Given the description of an element on the screen output the (x, y) to click on. 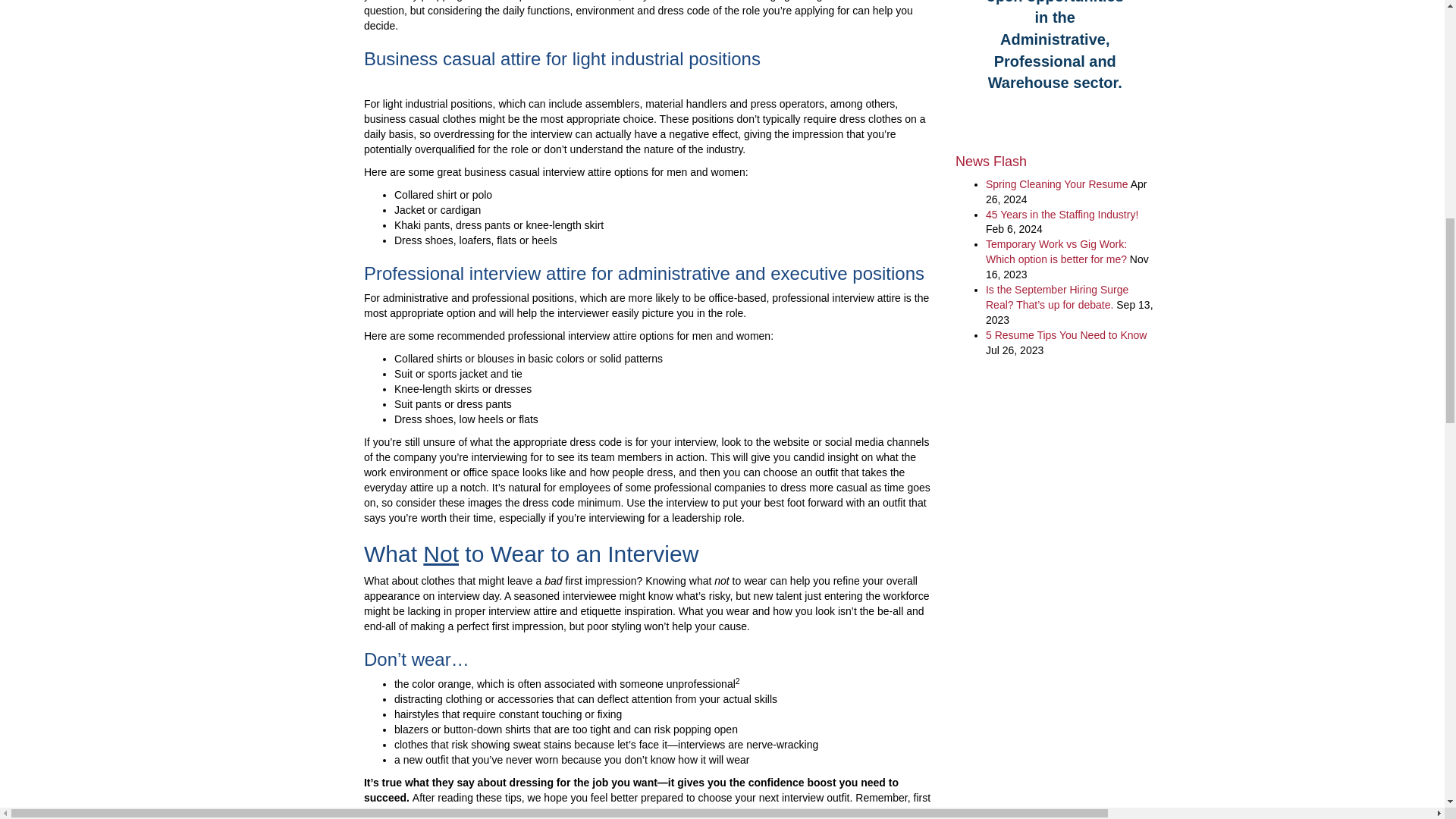
45 Years in the Staffing Industry! (1061, 214)
Temporary Work vs Gig Work: Which option is better for me? (1055, 251)
Spring Cleaning Your Resume (1056, 184)
